Given the description of an element on the screen output the (x, y) to click on. 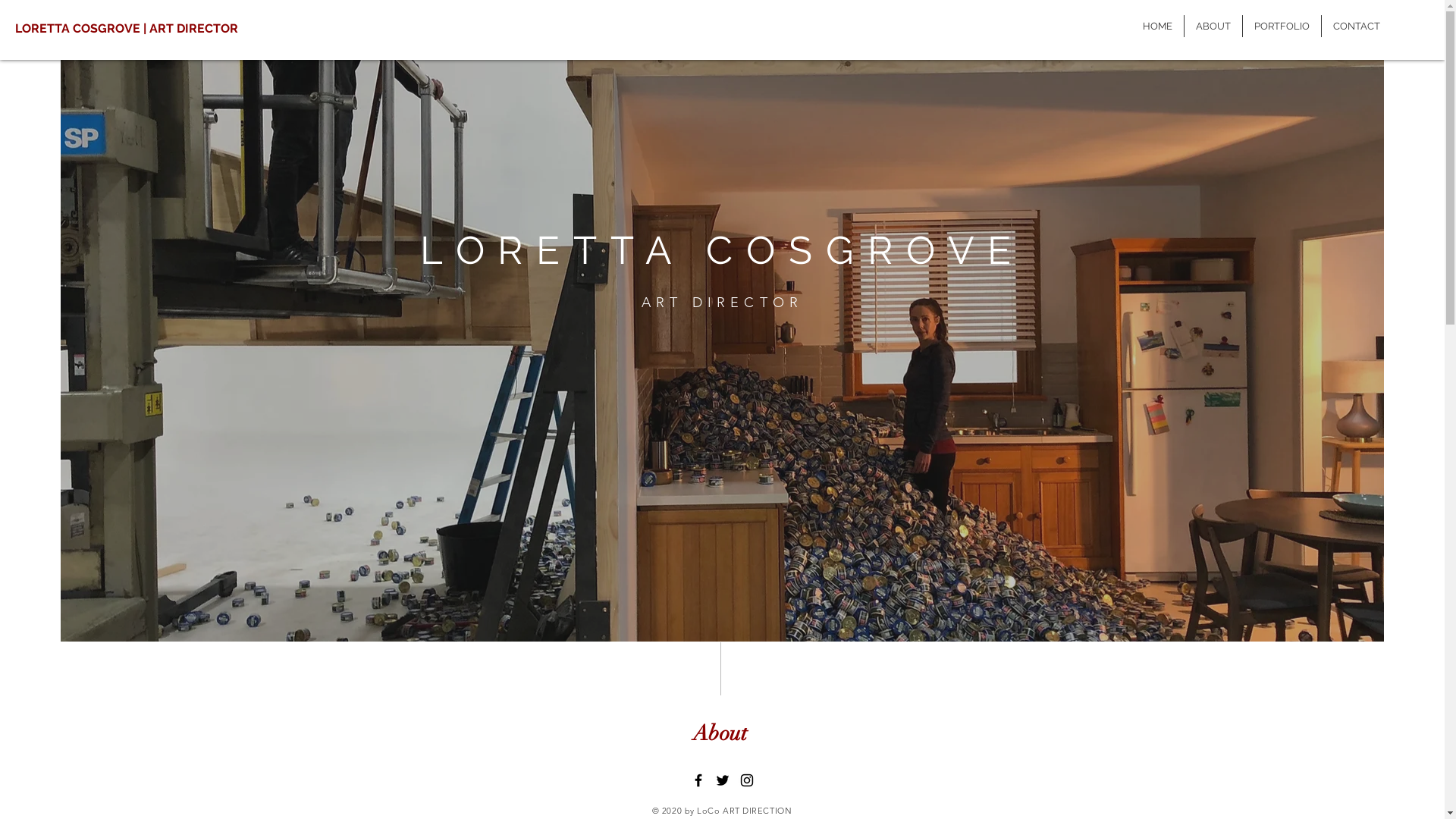
CONTACT Element type: text (1356, 26)
HOME Element type: text (1157, 26)
PORTFOLIO Element type: text (1281, 26)
ABOUT Element type: text (1213, 26)
LORETTA COSGROVE | ART DIRECTOR Element type: text (150, 28)
